Given the description of an element on the screen output the (x, y) to click on. 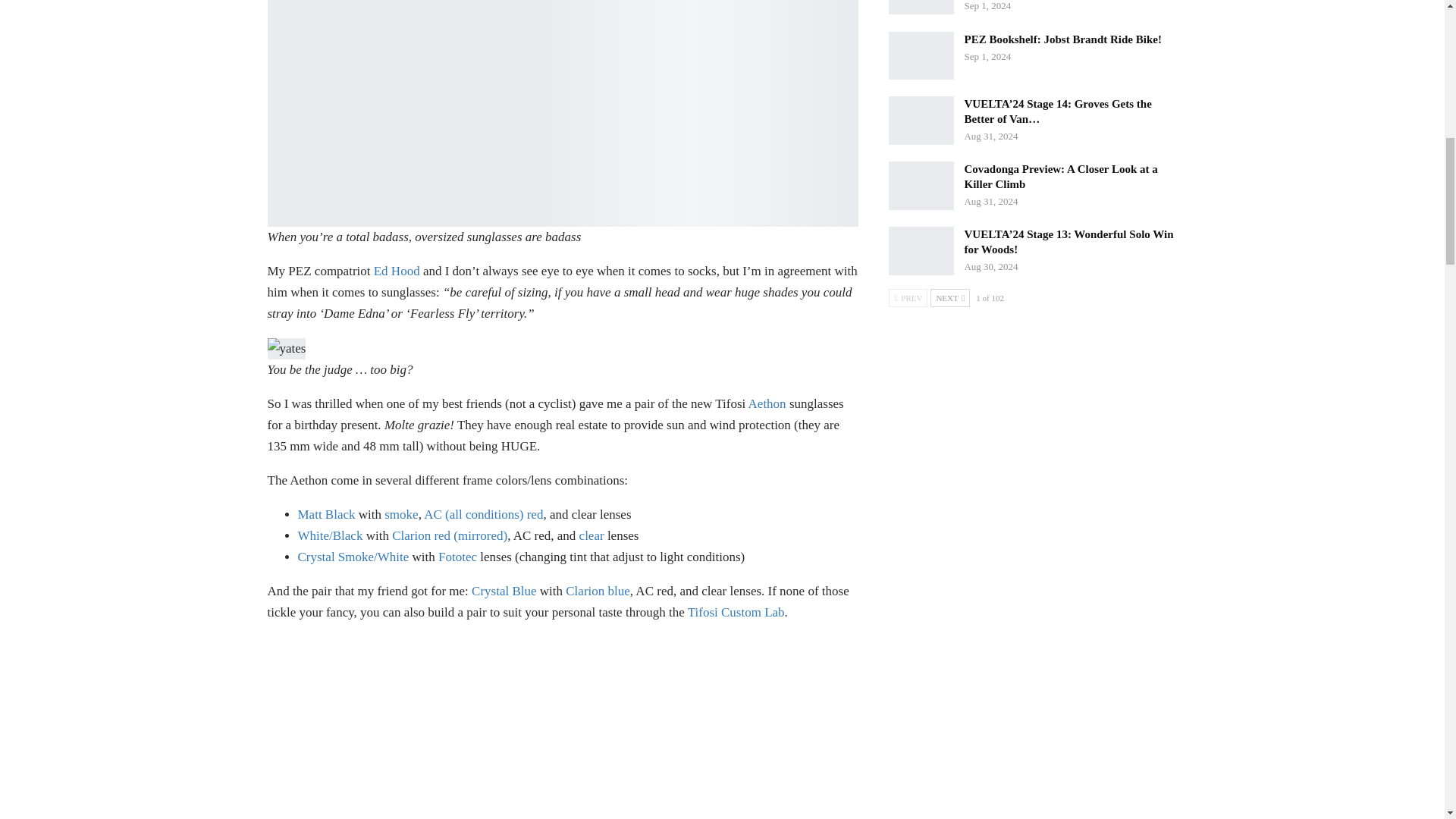
Fototec (457, 556)
smoke (400, 513)
Tifosi Custom Lab (735, 612)
Matt Black (326, 513)
Crystal Blue (503, 590)
Ed Hood (397, 270)
Clarion blue (598, 590)
clear (591, 535)
Aethon (767, 403)
